Given the description of an element on the screen output the (x, y) to click on. 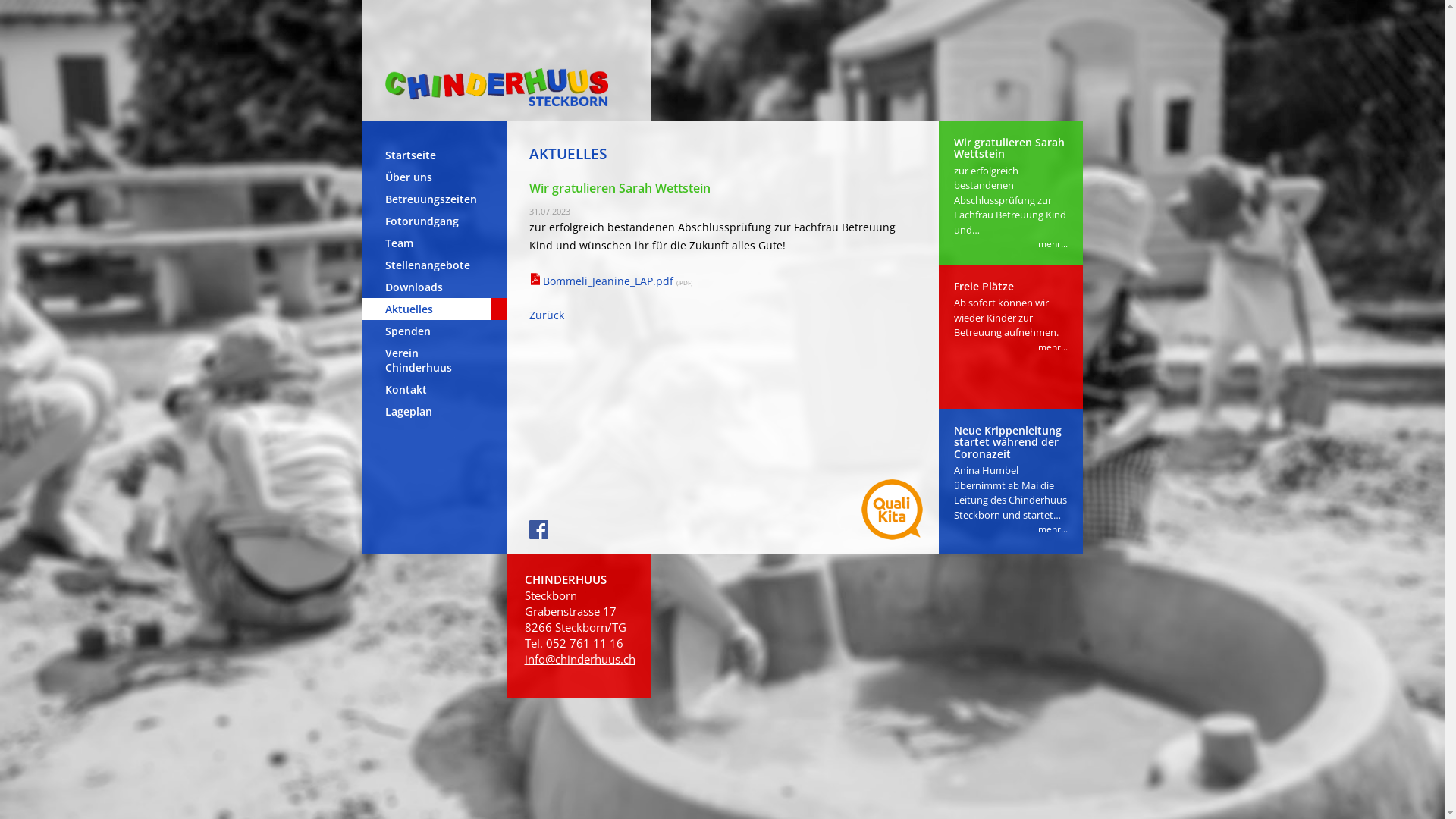
Stellenangebote Element type: text (434, 265)
Startseite Element type: text (434, 155)
info@chinderhuus.ch Element type: text (579, 658)
Betreuungszeiten Element type: text (434, 199)
mehr... Element type: text (1051, 528)
Aktuelles Element type: text (434, 309)
Spenden Element type: text (434, 331)
Kontakt Element type: text (434, 389)
Wir gratulieren Sarah Wettstein Element type: text (1008, 147)
Downloads Element type: text (434, 287)
Fotorundgang Element type: text (434, 221)
Verein Chinderhuus Element type: text (434, 360)
mehr... Element type: text (1051, 346)
Lageplan Element type: text (434, 411)
mehr... Element type: text (1051, 243)
Team Element type: text (434, 243)
Bommeli_Jeanine_LAP.pdf Element type: text (611, 280)
